Given the description of an element on the screen output the (x, y) to click on. 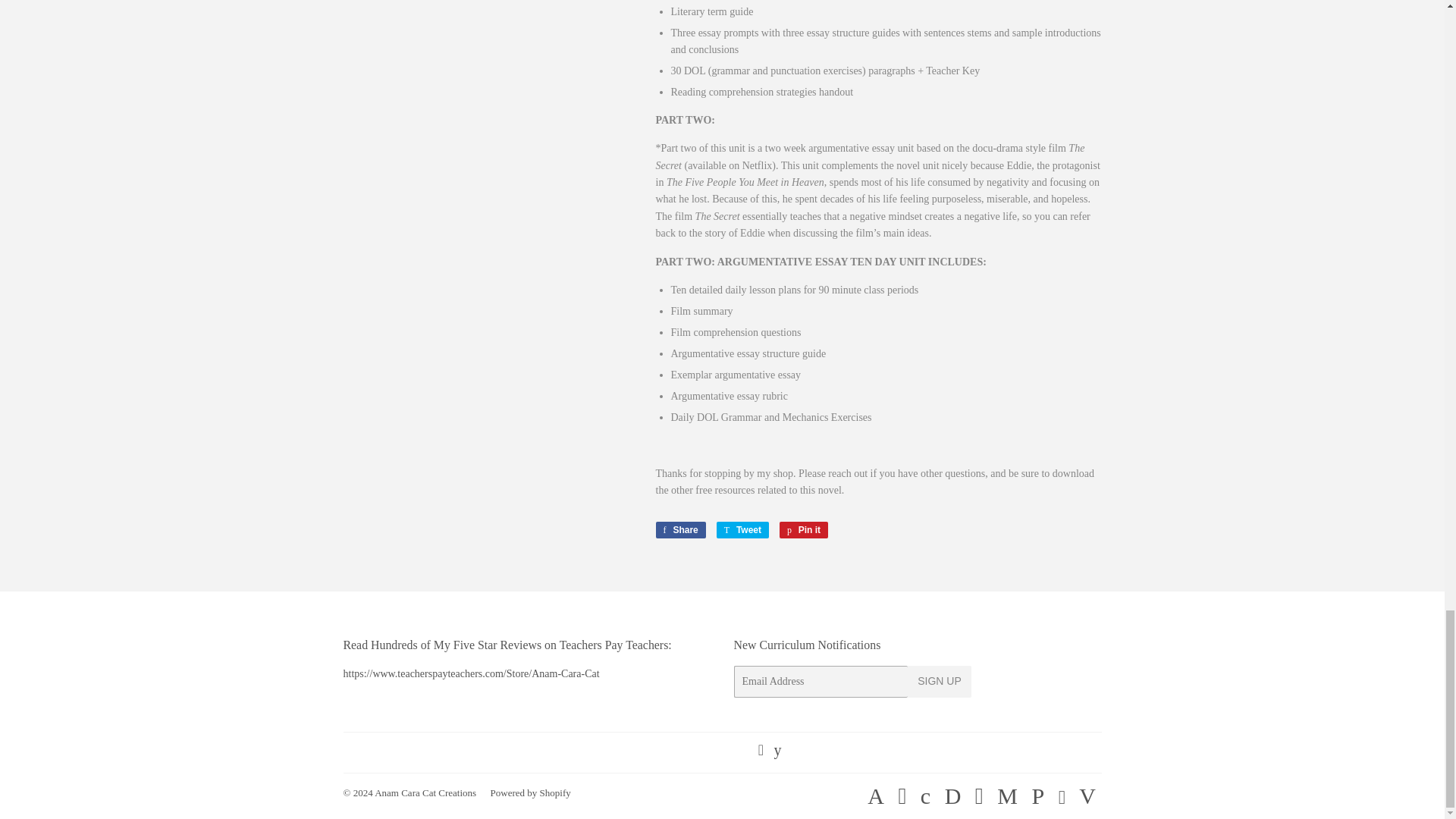
Tweet on Twitter (742, 529)
Pin on Pinterest (679, 529)
Anam Cara Cat Creations (803, 529)
SIGN UP (803, 529)
Powered by Shopify (425, 792)
Share on Facebook (742, 529)
